Given the description of an element on the screen output the (x, y) to click on. 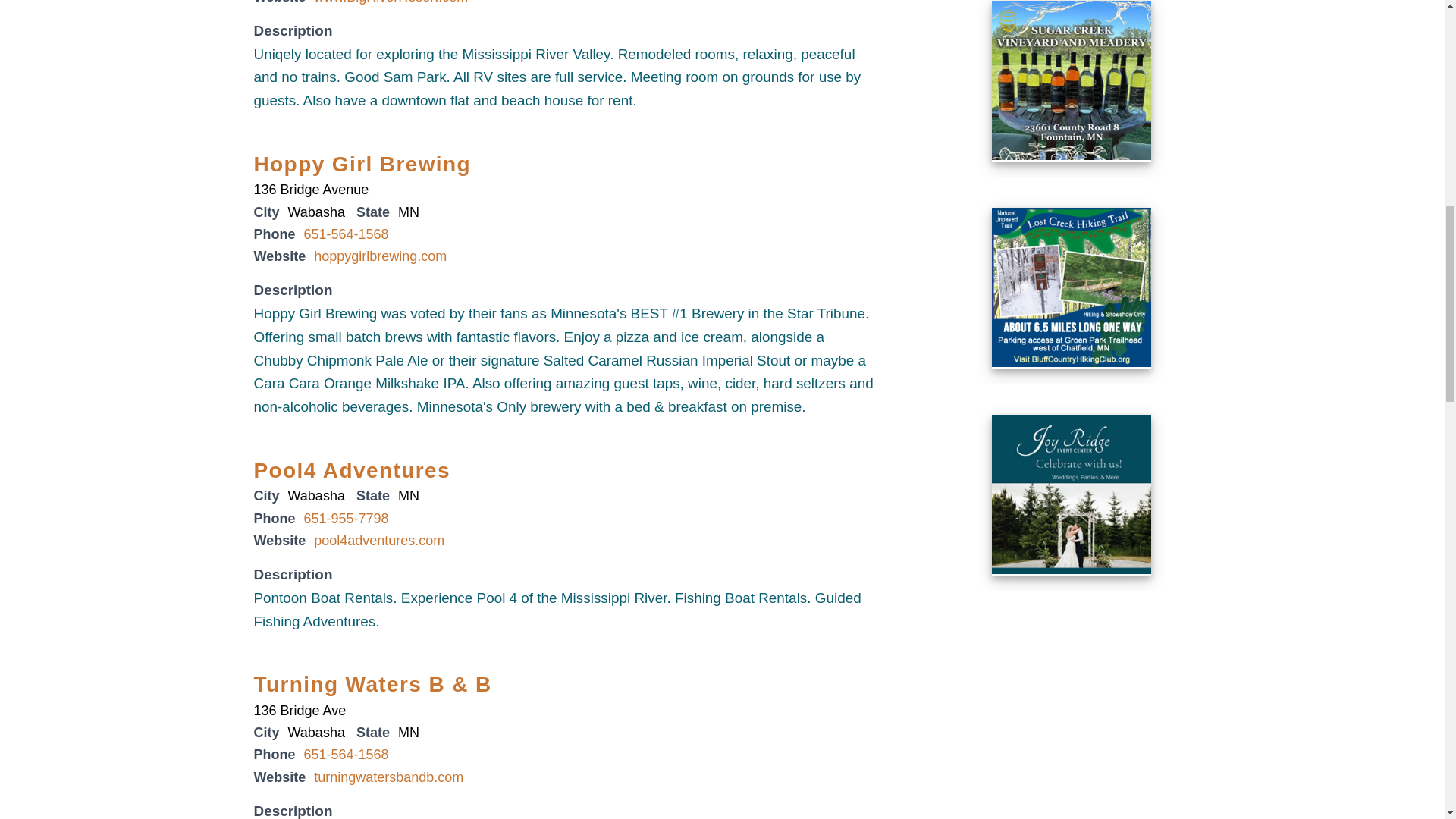
pool4adventures.com (379, 540)
turningwatersbandb.com (388, 776)
hoppygirlbrewing.com (380, 255)
www.BigRiverResort.com (390, 2)
www.BigRiverResort.com (390, 2)
